Given the description of an element on the screen output the (x, y) to click on. 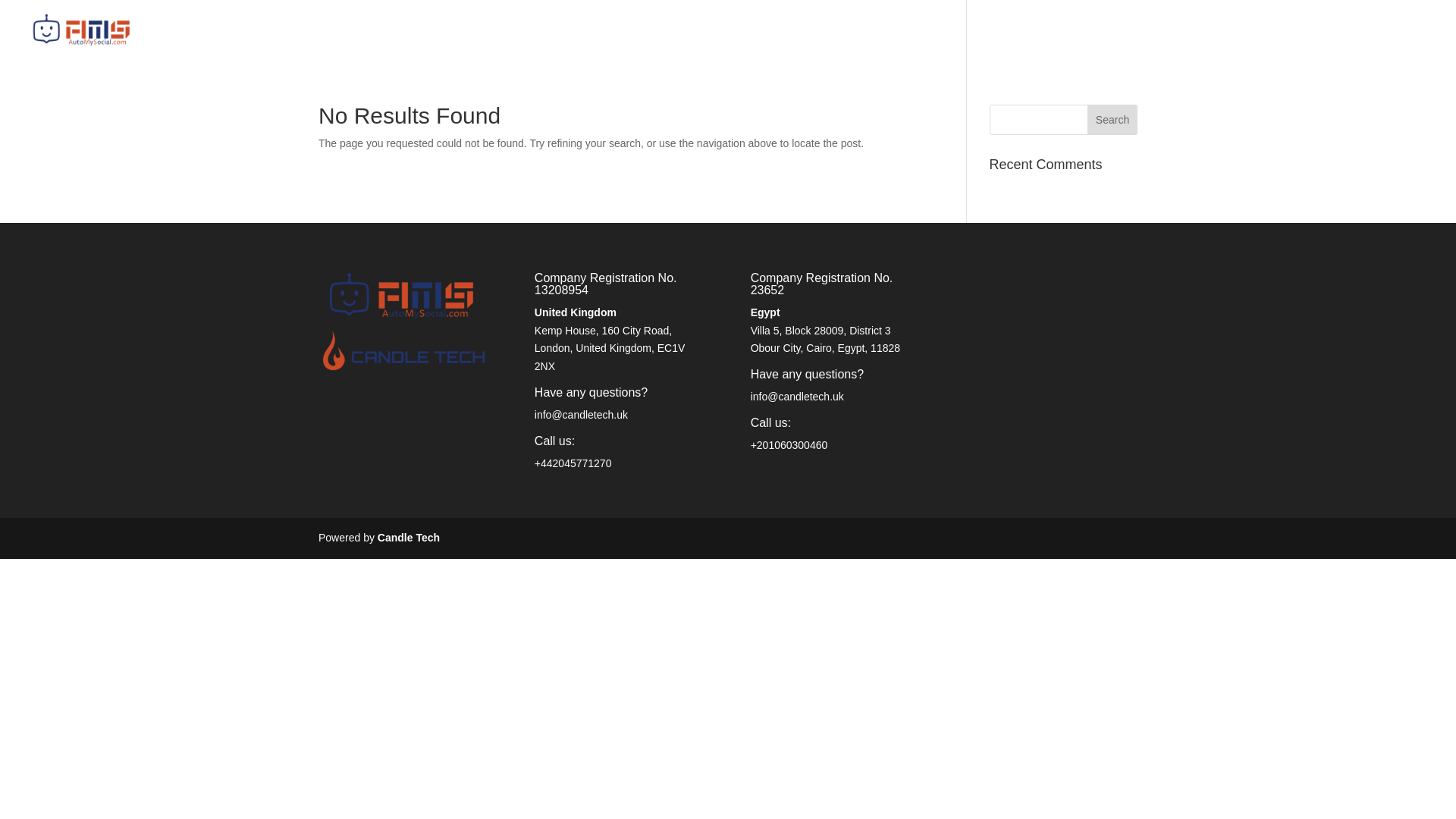
Search (1112, 119)
Search (1112, 119)
Contact (1363, 42)
Candle Tech (408, 537)
AMS Facebook (1187, 42)
AMS WhatsApp (1283, 42)
